Given the description of an element on the screen output the (x, y) to click on. 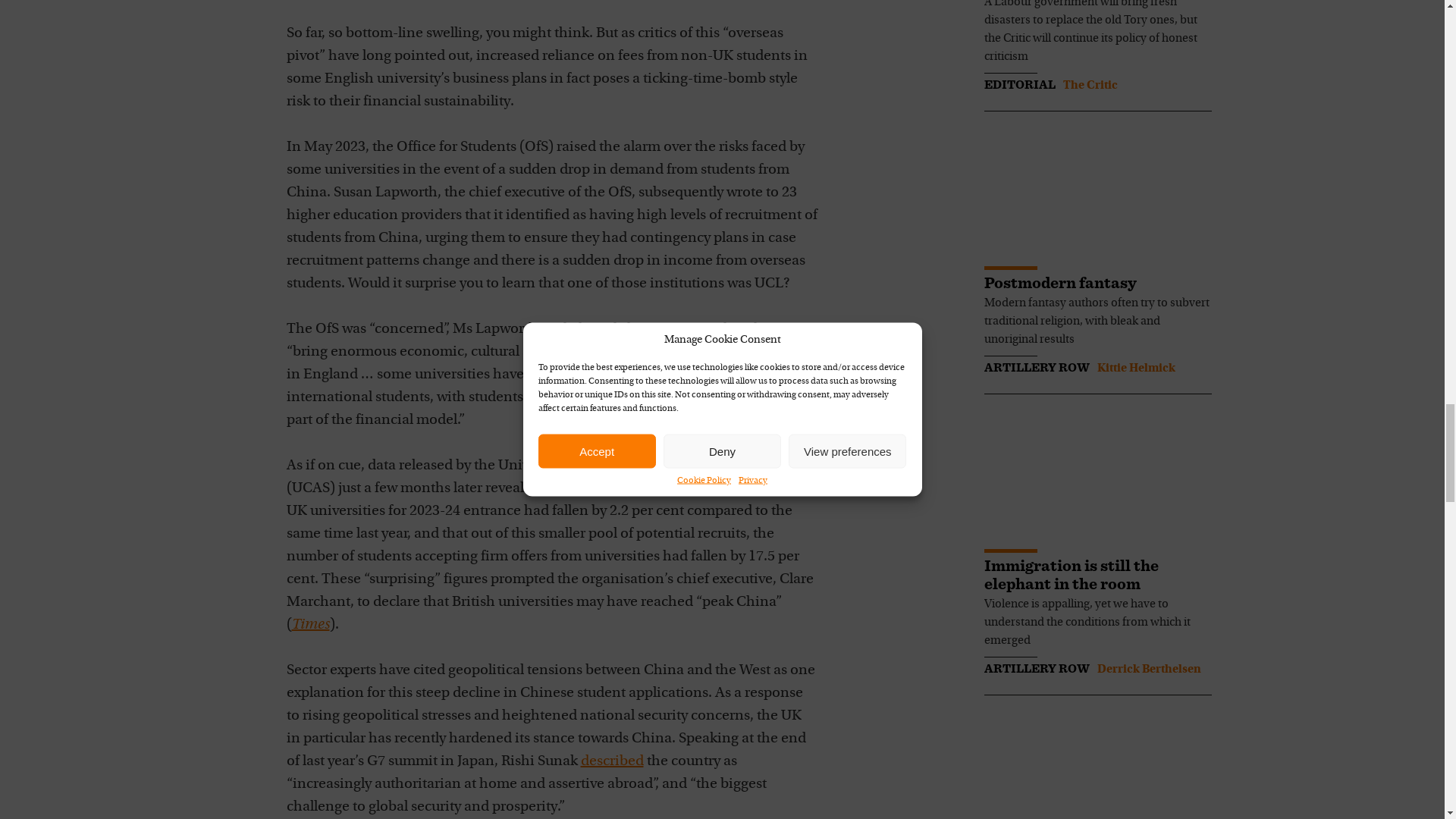
Posts by The Critic (1090, 85)
Posts by Kittie Helmick (1135, 368)
Posts by Derrick Berthelsen (1147, 669)
